Given the description of an element on the screen output the (x, y) to click on. 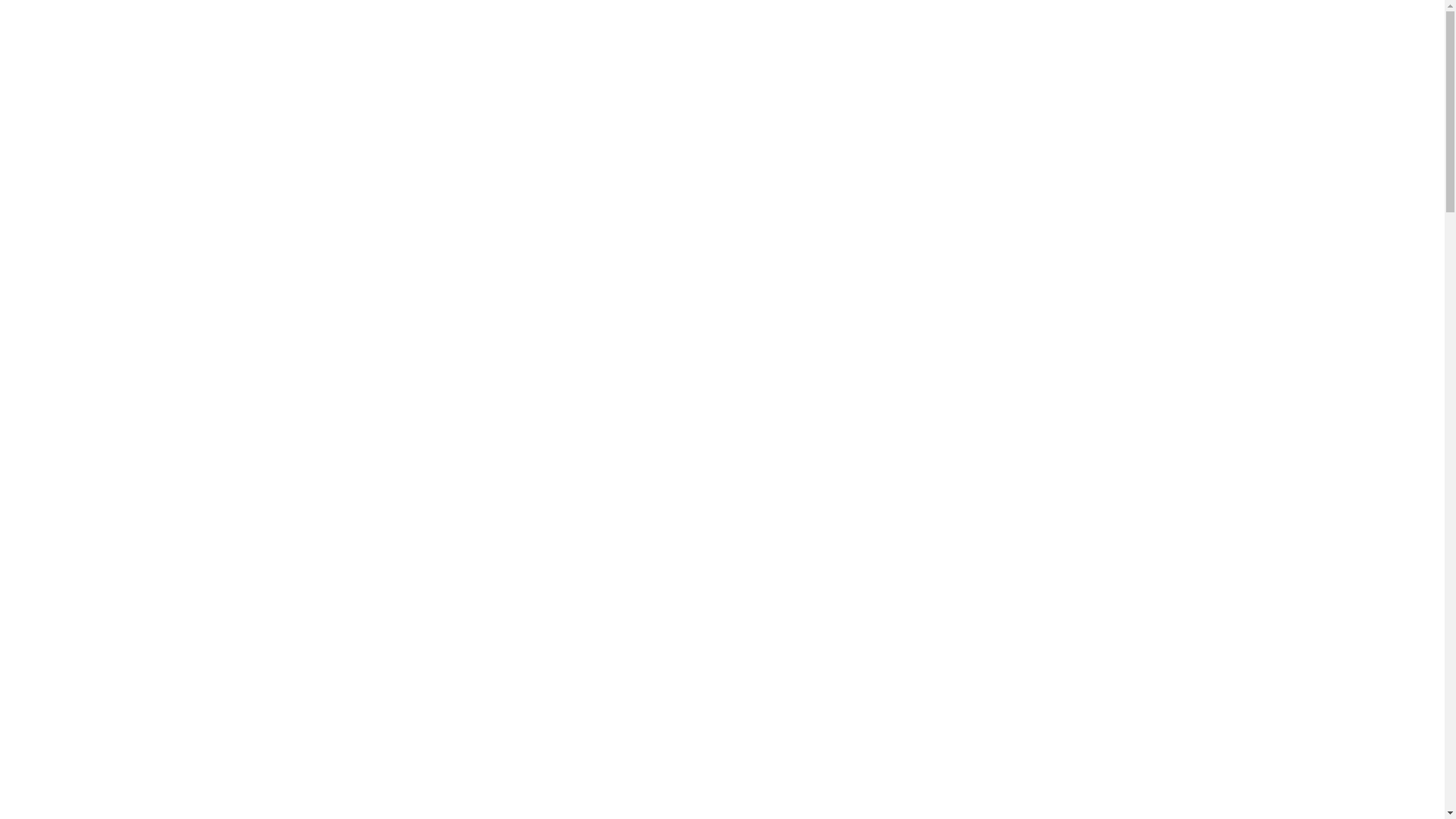
Break-dance Element type: text (97, 137)
Street-Choreo Element type: text (100, 151)
Hip-Hop Element type: text (87, 124)
Jazz-Funk Element type: text (91, 422)
Break-dance Element type: text (97, 395)
Jazz-Funk Element type: text (91, 165)
Hip-Hop Element type: text (87, 381)
Street-Choreo Element type: text (100, 408)
